Given the description of an element on the screen output the (x, y) to click on. 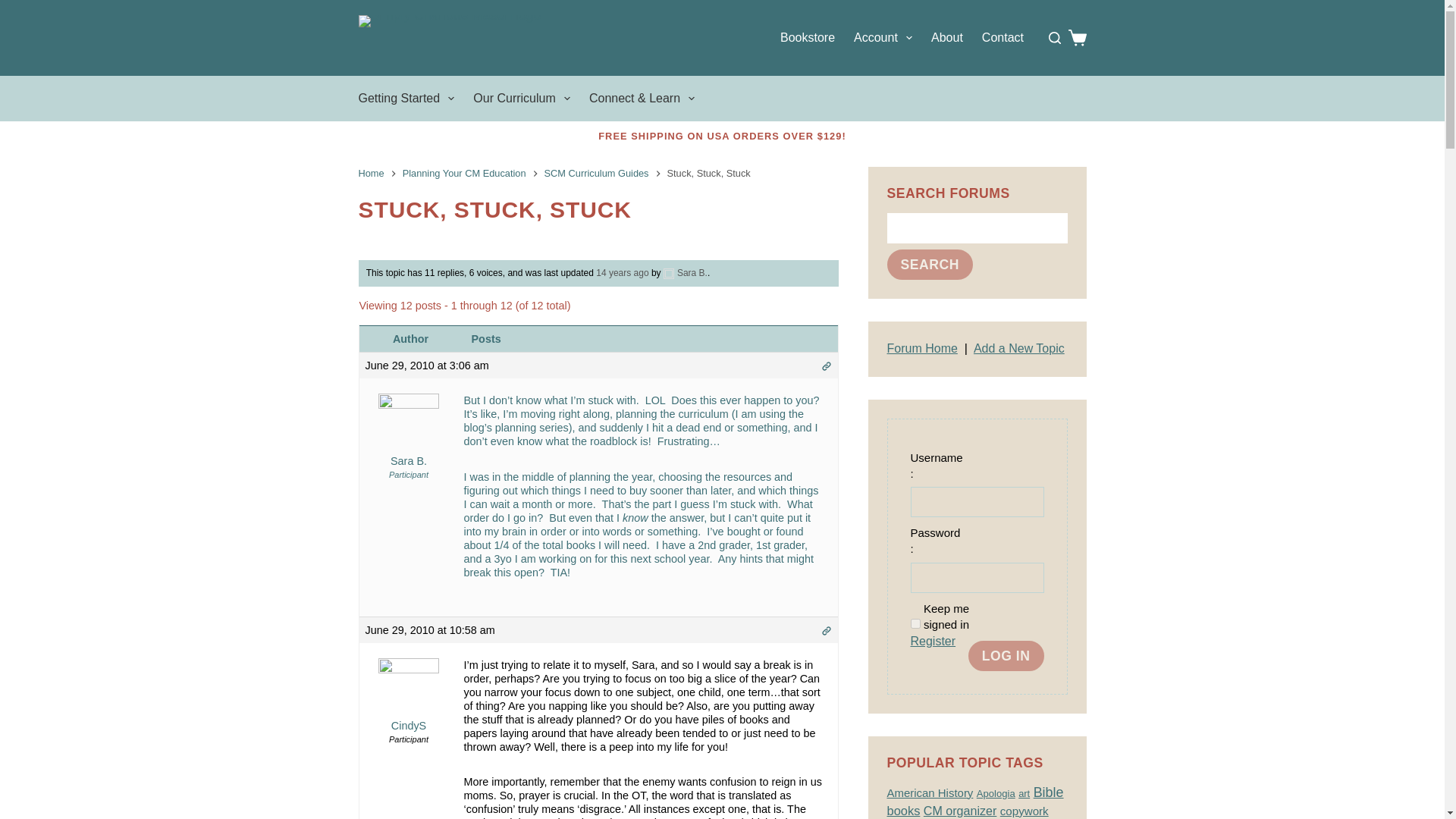
forever (915, 623)
Account (882, 38)
View Sara B.'s profile (685, 272)
View CindyS's profile (408, 704)
Search (929, 264)
Bookstore (807, 38)
Stuck, stuck, stuck (598, 210)
View Sara B.'s profile (408, 439)
Reply To: Stuck, stuck, stuck (621, 272)
Search (461, 467)
Skip to content (15, 7)
